Given the description of an element on the screen output the (x, y) to click on. 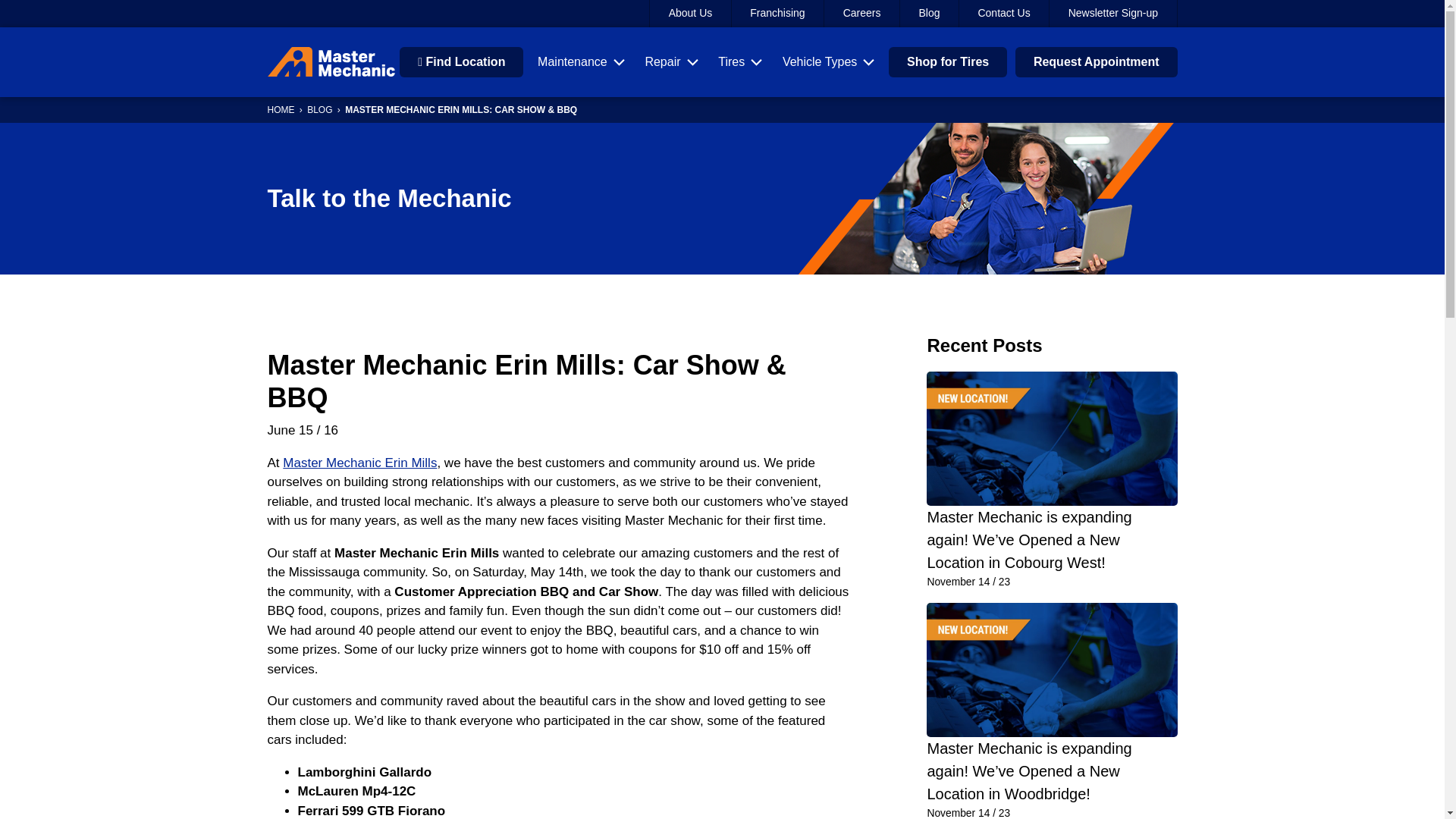
Careers (861, 13)
Maintenance (580, 62)
Blog (929, 13)
Tires (739, 62)
Find Location (460, 61)
Repair (671, 62)
Franchising (778, 13)
About Us (690, 13)
Contact Us (1004, 13)
Newsletter Sign-up (1112, 13)
